Given the description of an element on the screen output the (x, y) to click on. 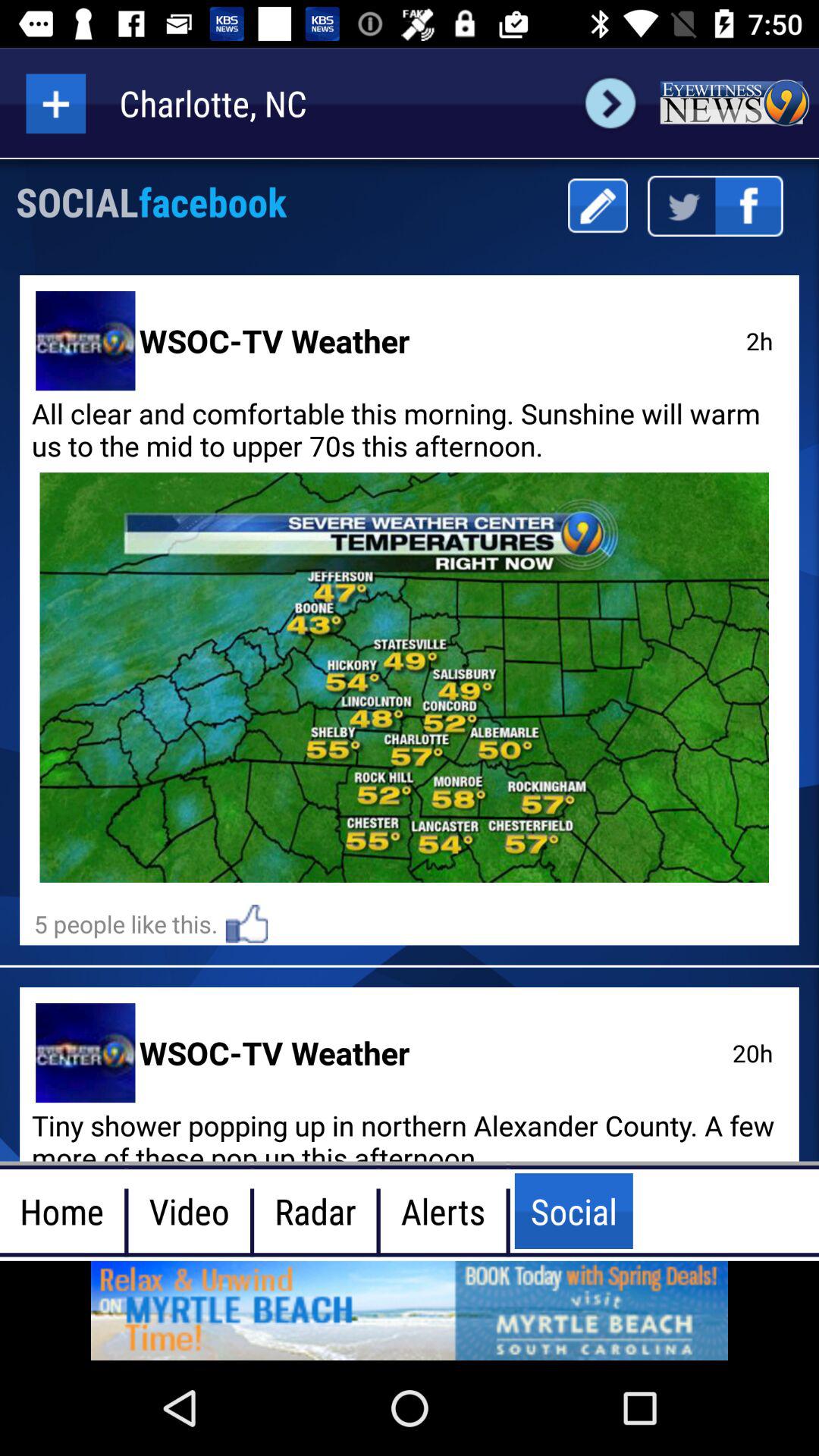
open advertisement (409, 1310)
